Given the description of an element on the screen output the (x, y) to click on. 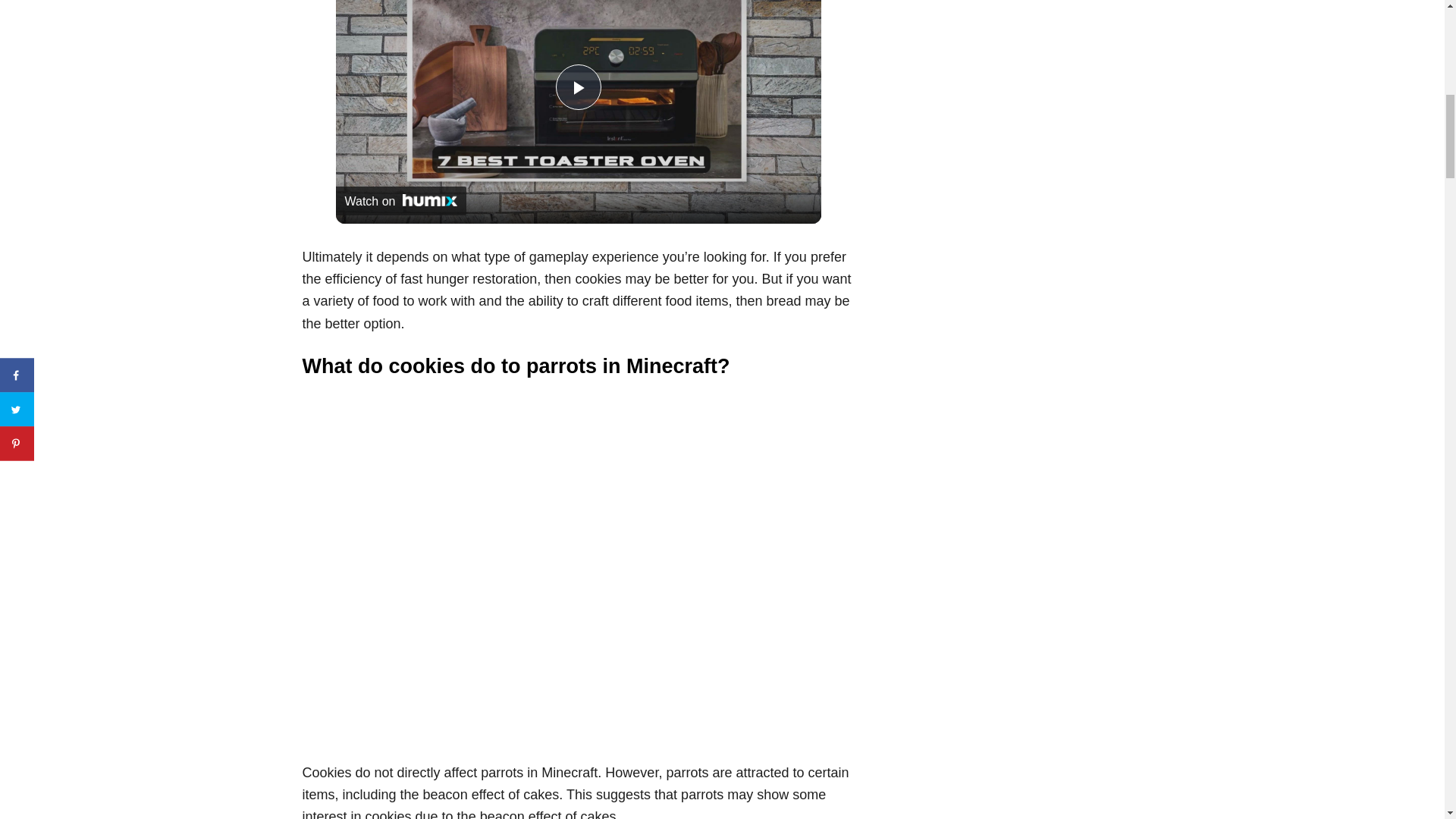
Watch on (399, 200)
Play Video (576, 86)
Play Video (576, 86)
